Given the description of an element on the screen output the (x, y) to click on. 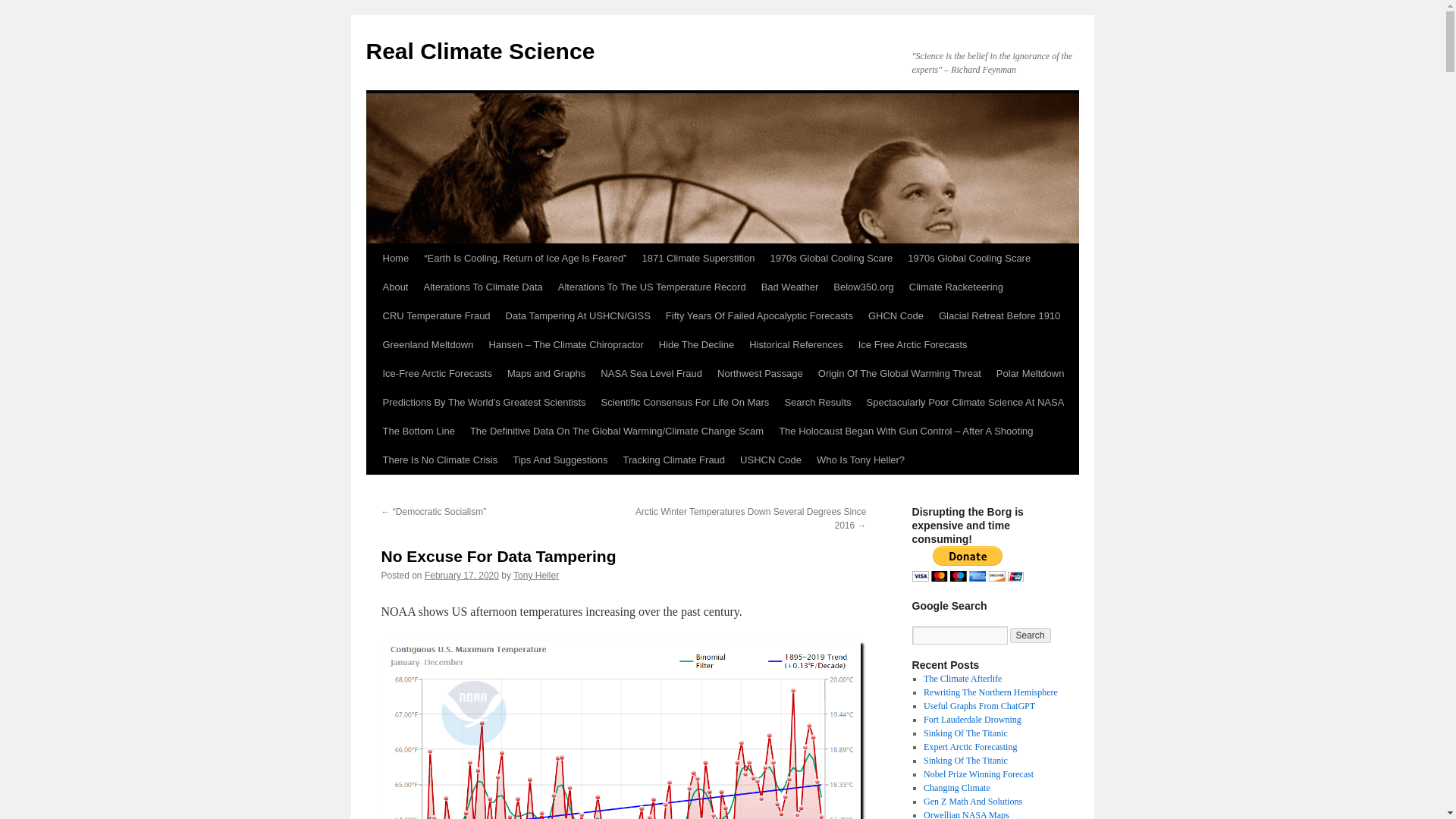
Hide The Decline (695, 344)
NASA Sea Level Fraud (651, 373)
Tips And Suggestions (559, 460)
1970s Global Cooling Scare (830, 258)
Northwest Passage (760, 373)
Glacial Retreat Before 1910 (999, 316)
View all posts by Tony Heller (536, 575)
Below350.org (863, 287)
Origin Of The Global Warming Threat (899, 373)
Spectacularly Poor Climate Science At NASA (965, 402)
